Given the description of an element on the screen output the (x, y) to click on. 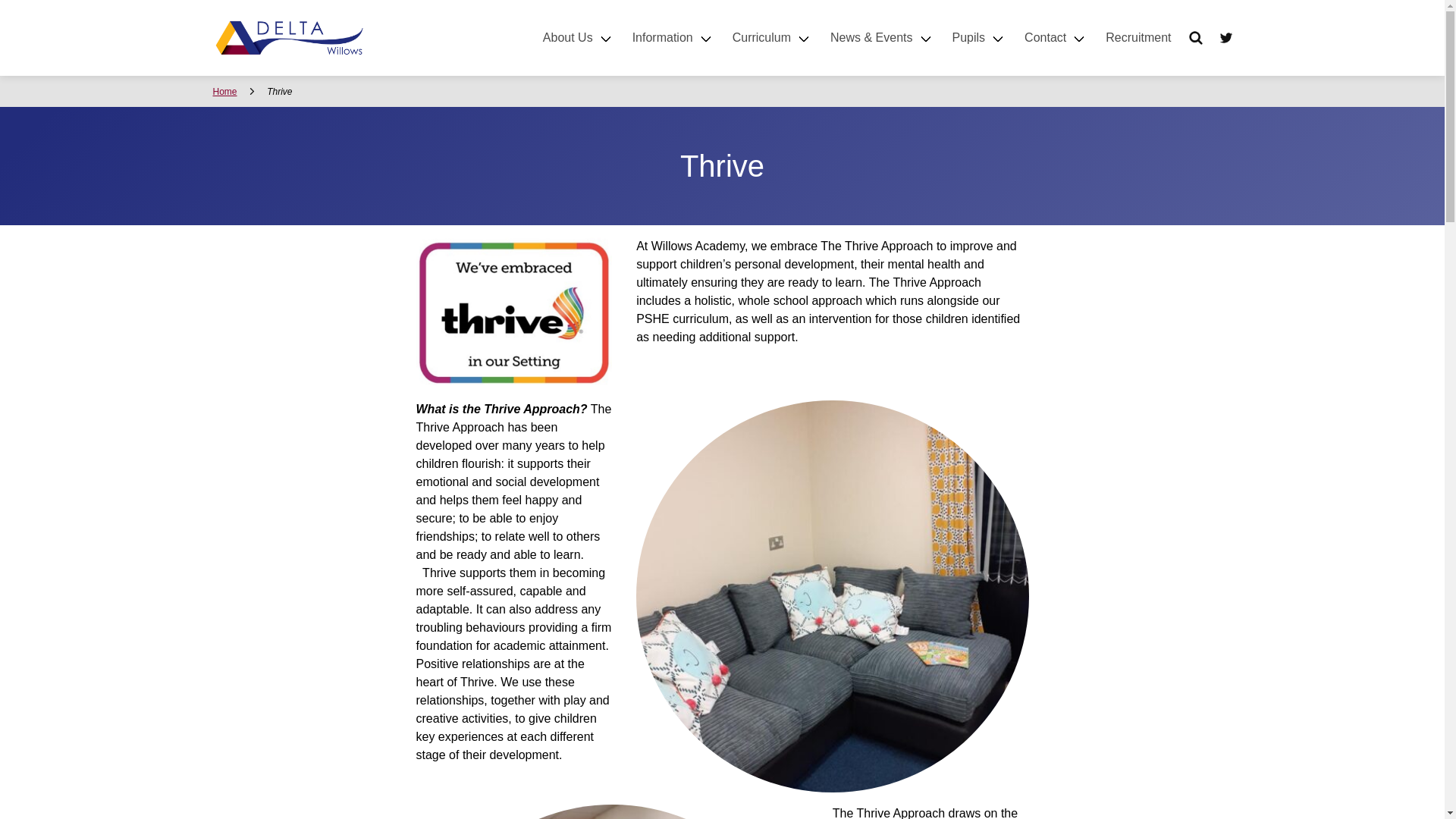
Curriculum (772, 37)
Information (673, 37)
About Us (578, 37)
About Us (578, 37)
Pupils (979, 37)
Information (673, 37)
Go to home page (288, 37)
